Given the description of an element on the screen output the (x, y) to click on. 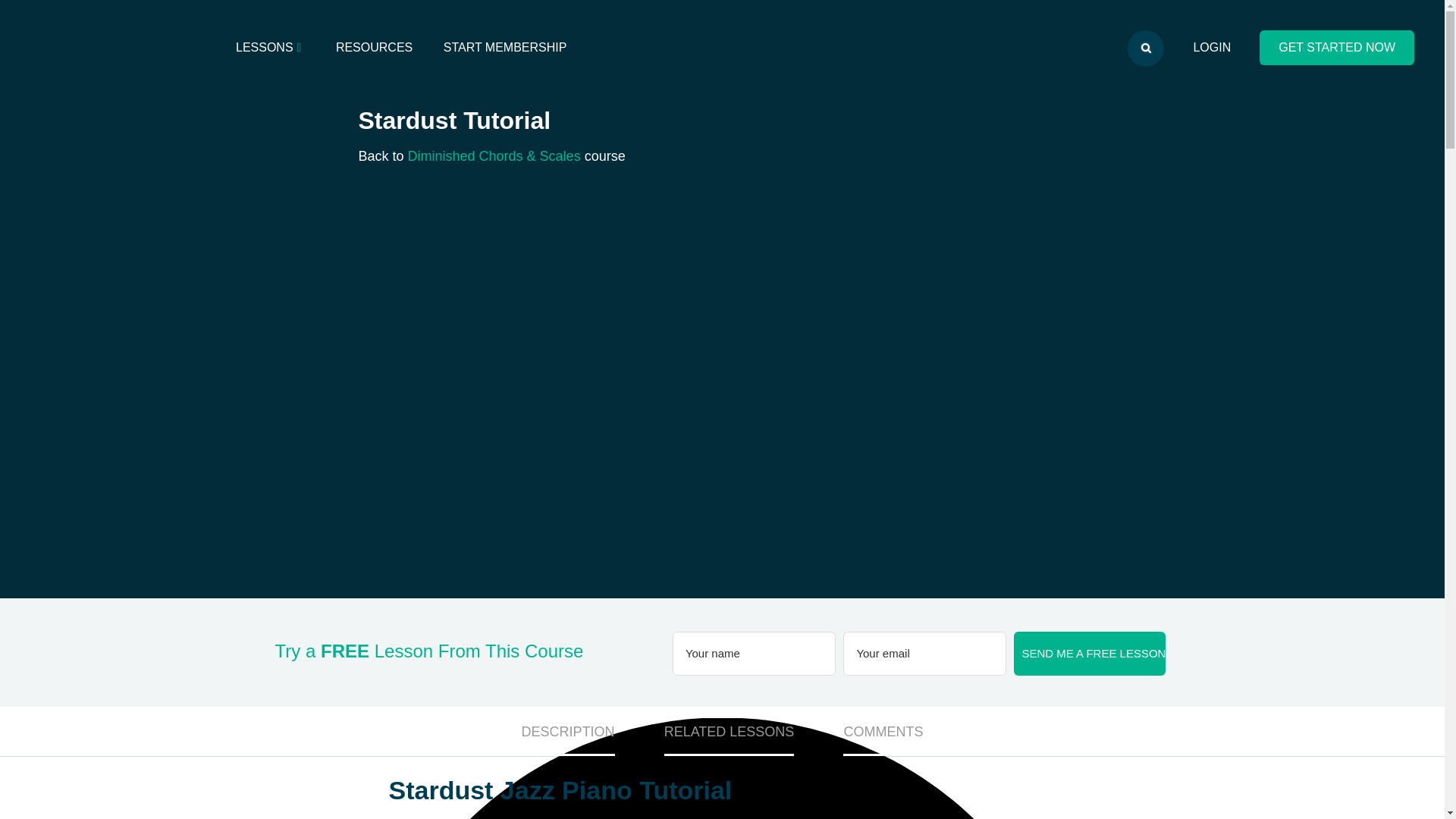
GET STARTED NOW (1336, 47)
LESSONS (270, 47)
RESOURCES (373, 47)
START MEMBERSHIP (504, 47)
PIANOGROOVE.COM (116, 45)
Send Me a Free Lesson (1089, 653)
LOGIN (1211, 47)
DESCRIPTION (567, 730)
